Given the description of an element on the screen output the (x, y) to click on. 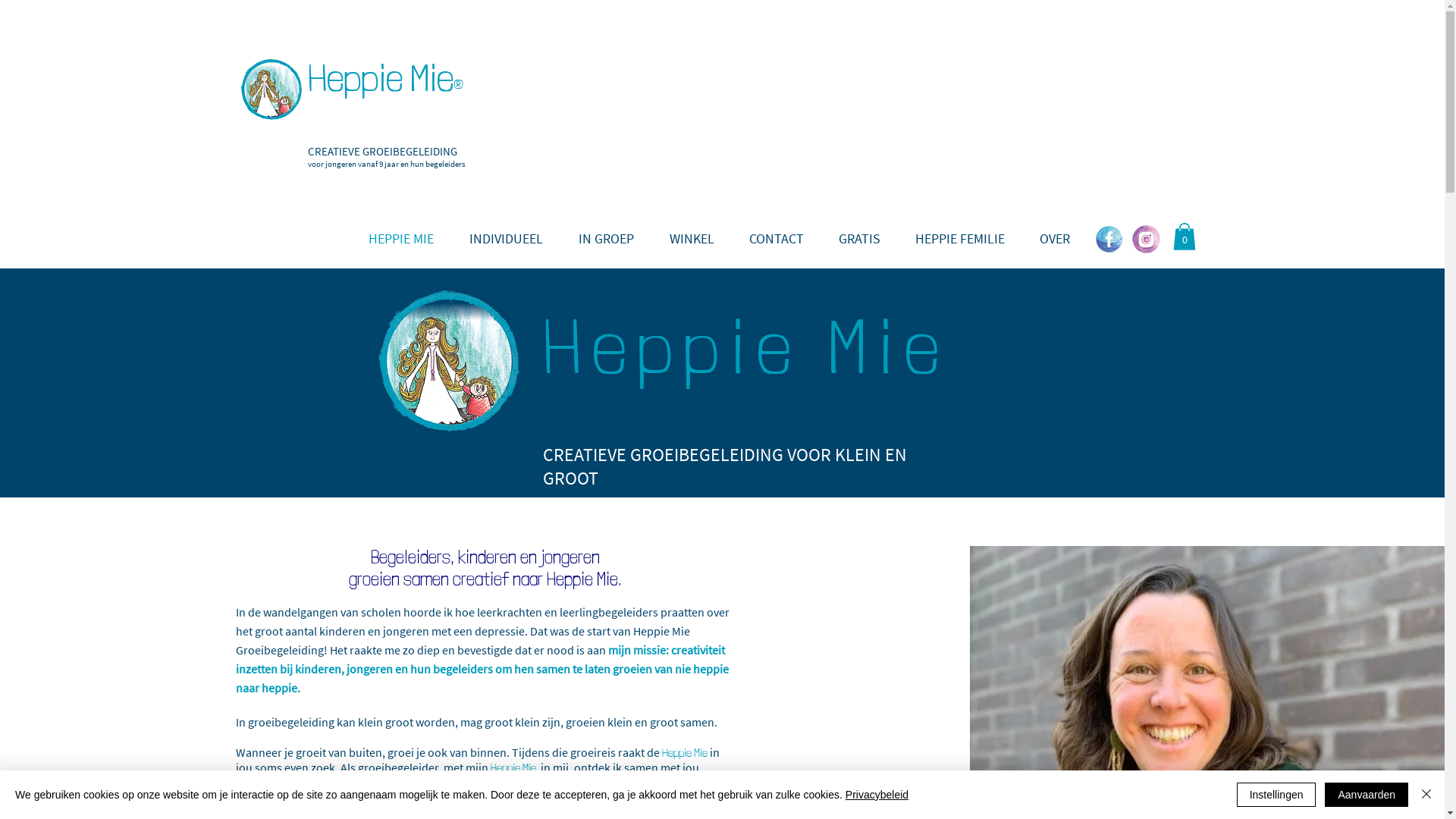
HEPPIE MIE Element type: text (400, 238)
OVER Element type: text (1054, 238)
Aanvaarden Element type: text (1366, 794)
HEPPIE FEMILIE Element type: text (959, 238)
Privacybeleid Element type: text (876, 794)
Instellingen Element type: text (1276, 794)
WINKEL Element type: text (691, 238)
CONTACT Element type: text (775, 238)
0 Element type: text (1183, 236)
INDIVIDUEEL Element type: text (506, 238)
